Given the description of an element on the screen output the (x, y) to click on. 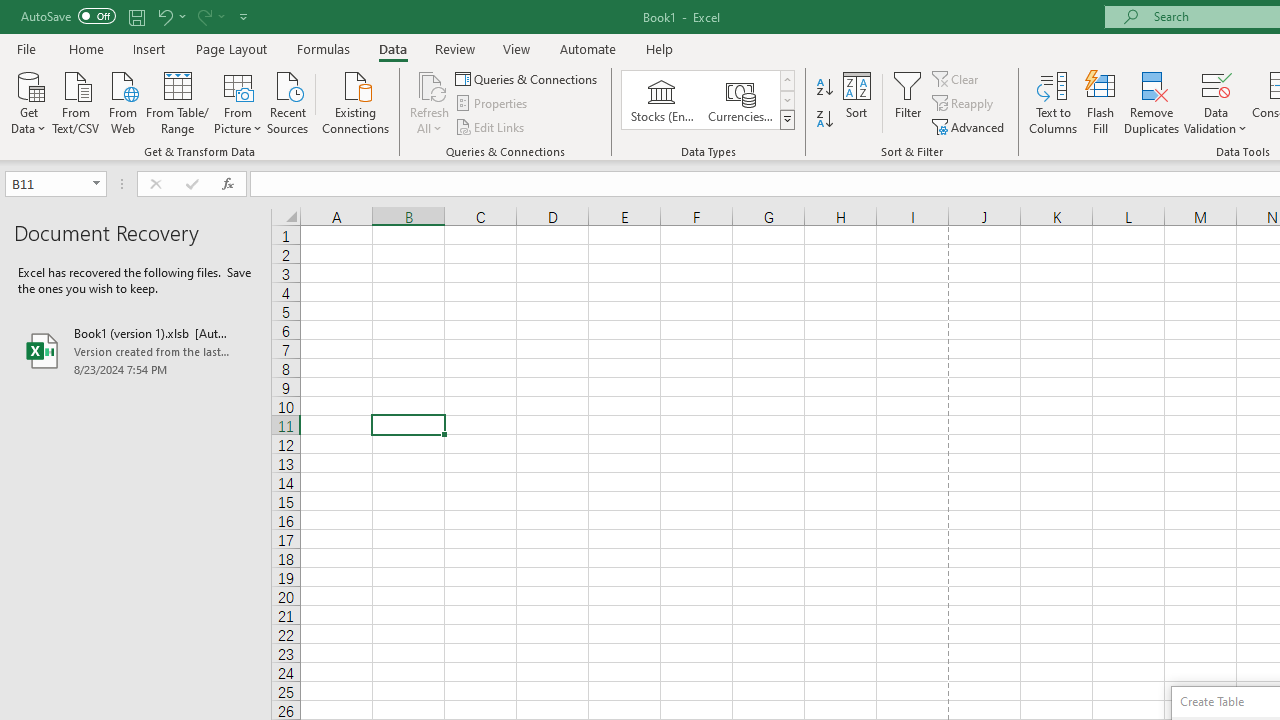
Data Types (786, 120)
Row up (786, 79)
From Web (122, 101)
Currencies (English) (740, 100)
Properties (492, 103)
From Table/Range (177, 101)
Filter (908, 102)
AutomationID: ConvertToLinkedEntity (708, 99)
Row Down (786, 100)
Get Data (28, 101)
